Given the description of an element on the screen output the (x, y) to click on. 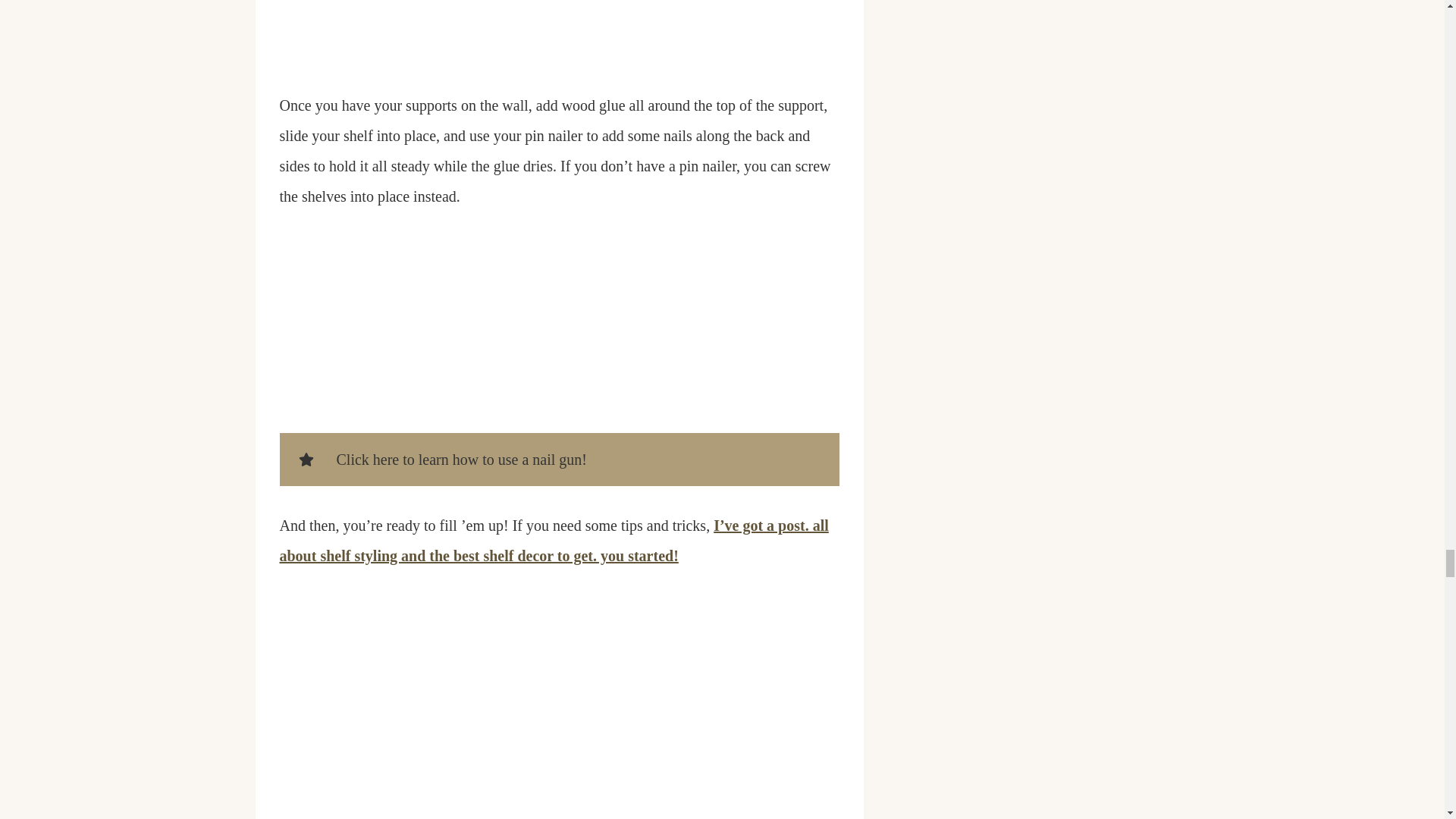
Click here to learn how to use a nail gun! (558, 459)
